Given the description of an element on the screen output the (x, y) to click on. 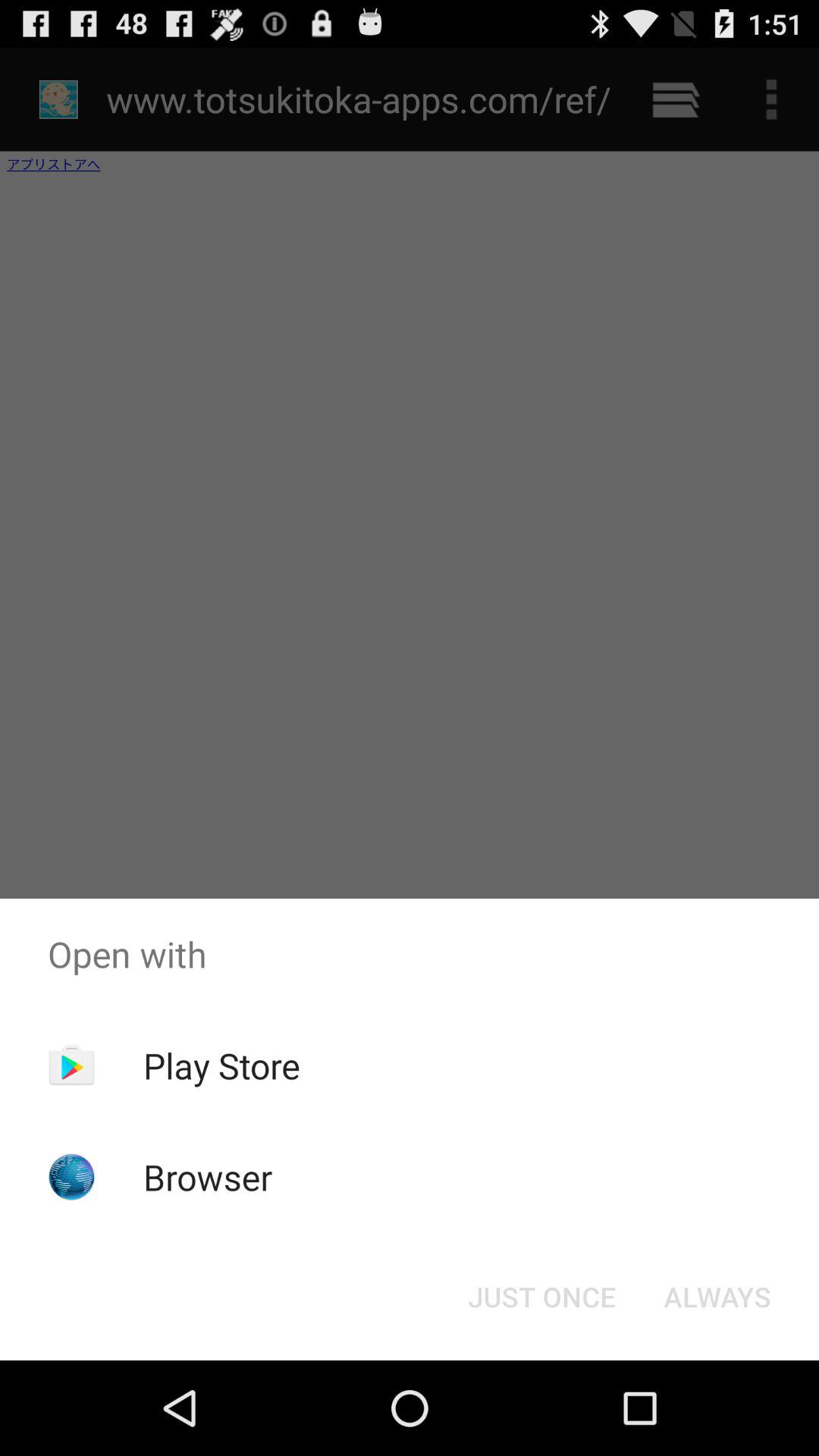
click item below the open with item (717, 1296)
